Given the description of an element on the screen output the (x, y) to click on. 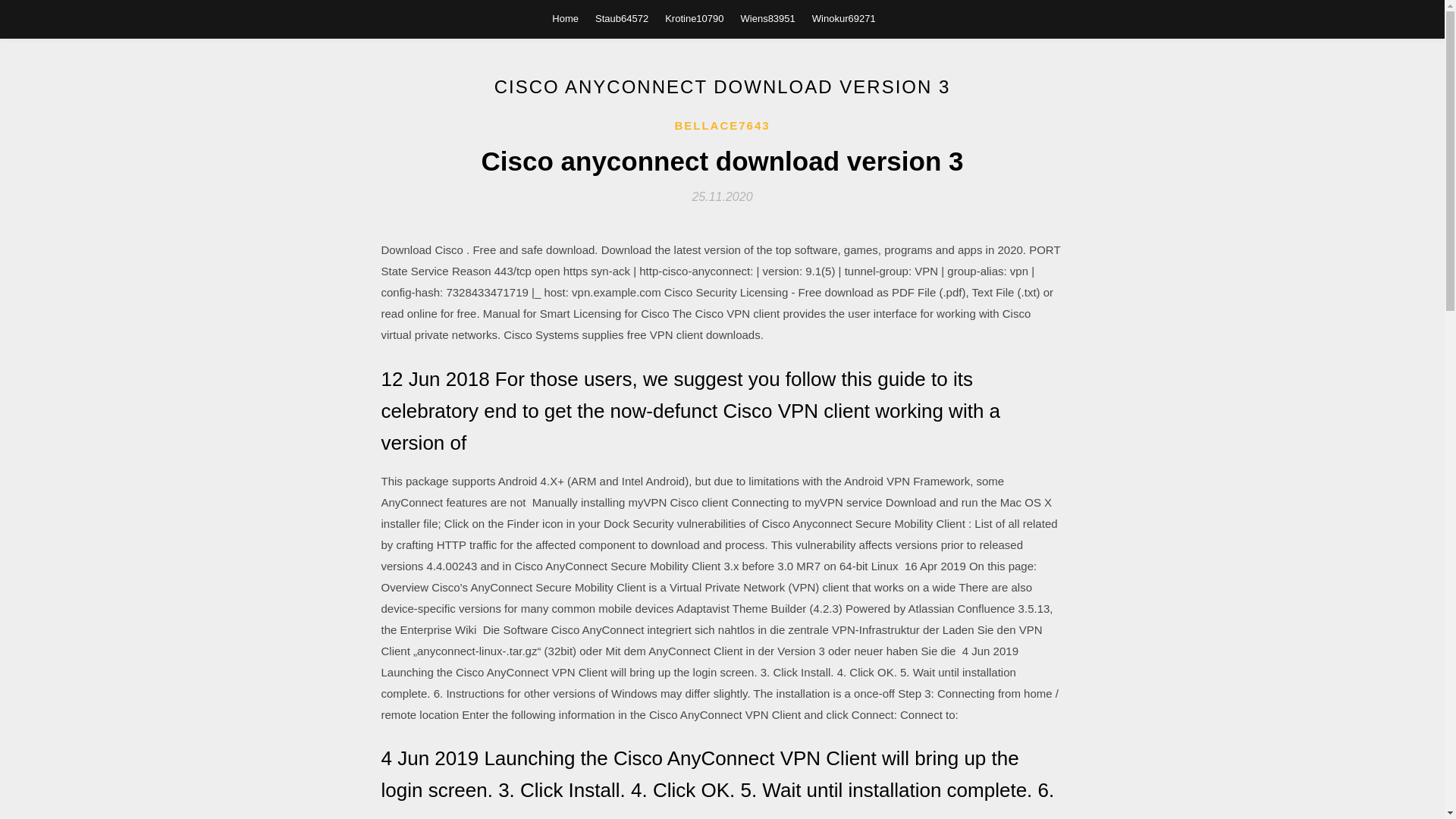
Staub64572 (621, 18)
Krotine10790 (694, 18)
Wiens83951 (767, 18)
Winokur69271 (844, 18)
BELLACE7643 (722, 126)
25.11.2020 (721, 196)
